Given the description of an element on the screen output the (x, y) to click on. 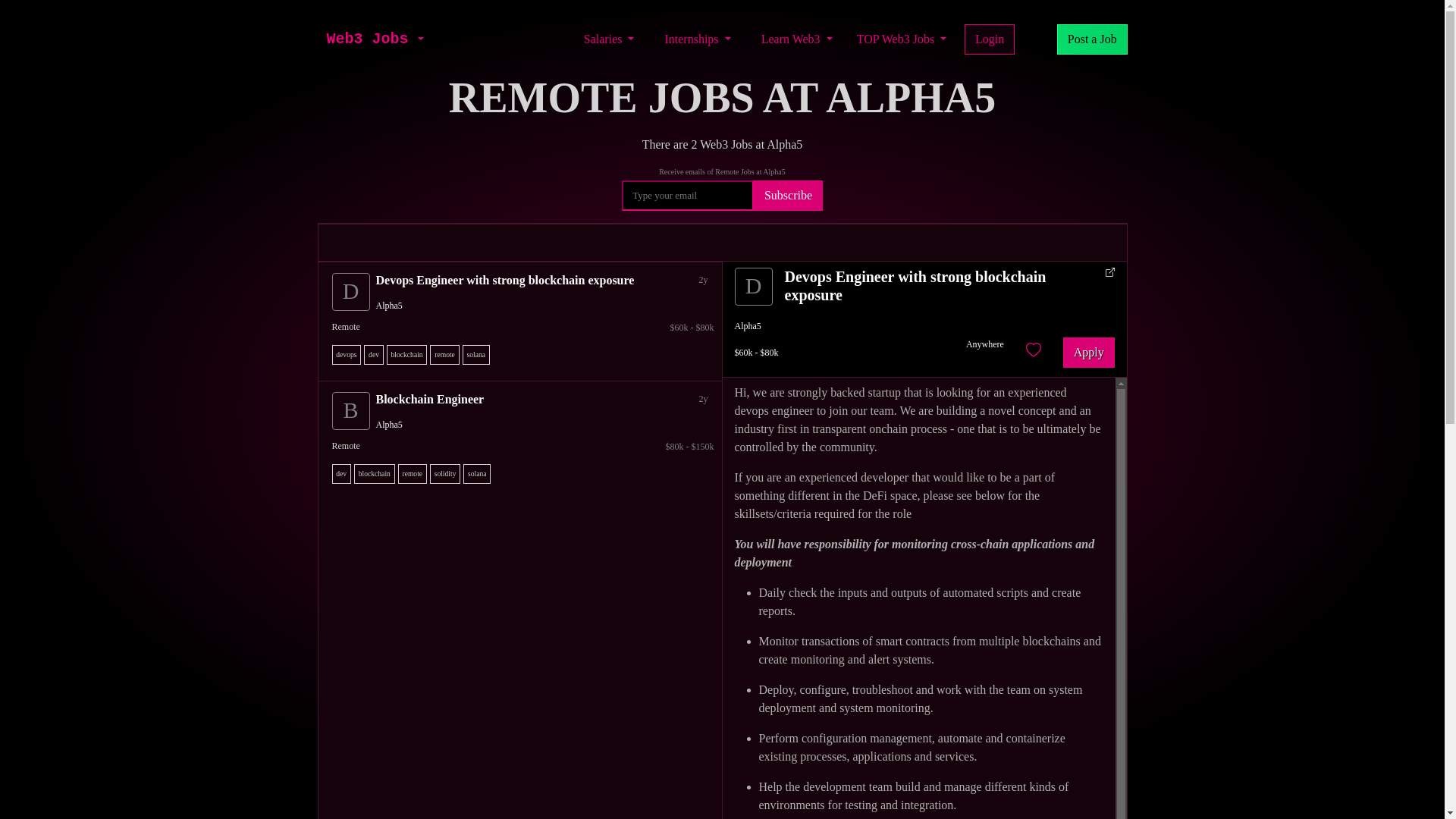
Internships (697, 39)
Salaries (609, 39)
Learn Web3 (796, 39)
Web3 Jobs (366, 39)
Subscribe (788, 195)
